Given the description of an element on the screen output the (x, y) to click on. 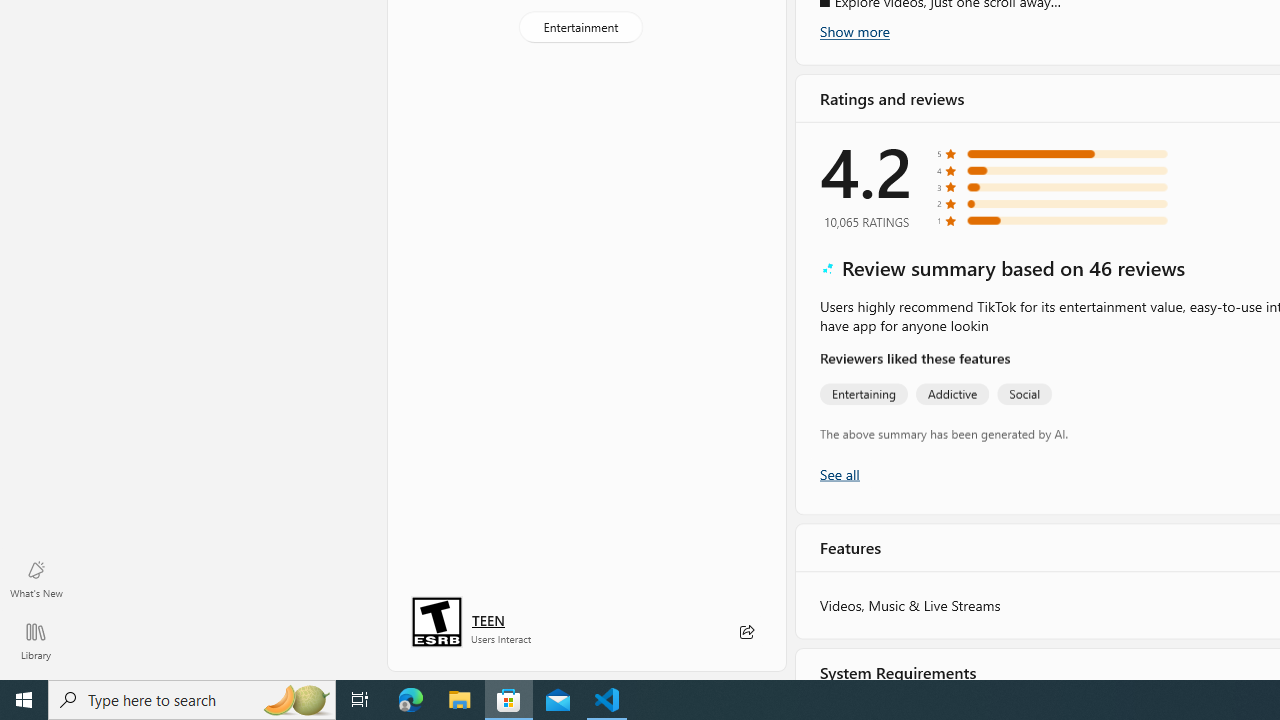
What's New (35, 578)
Show more (854, 31)
Share (746, 632)
Age rating: TEEN. Click for more information. (488, 619)
Show all ratings and reviews (838, 472)
Entertainment (580, 26)
Library (35, 640)
